Given the description of an element on the screen output the (x, y) to click on. 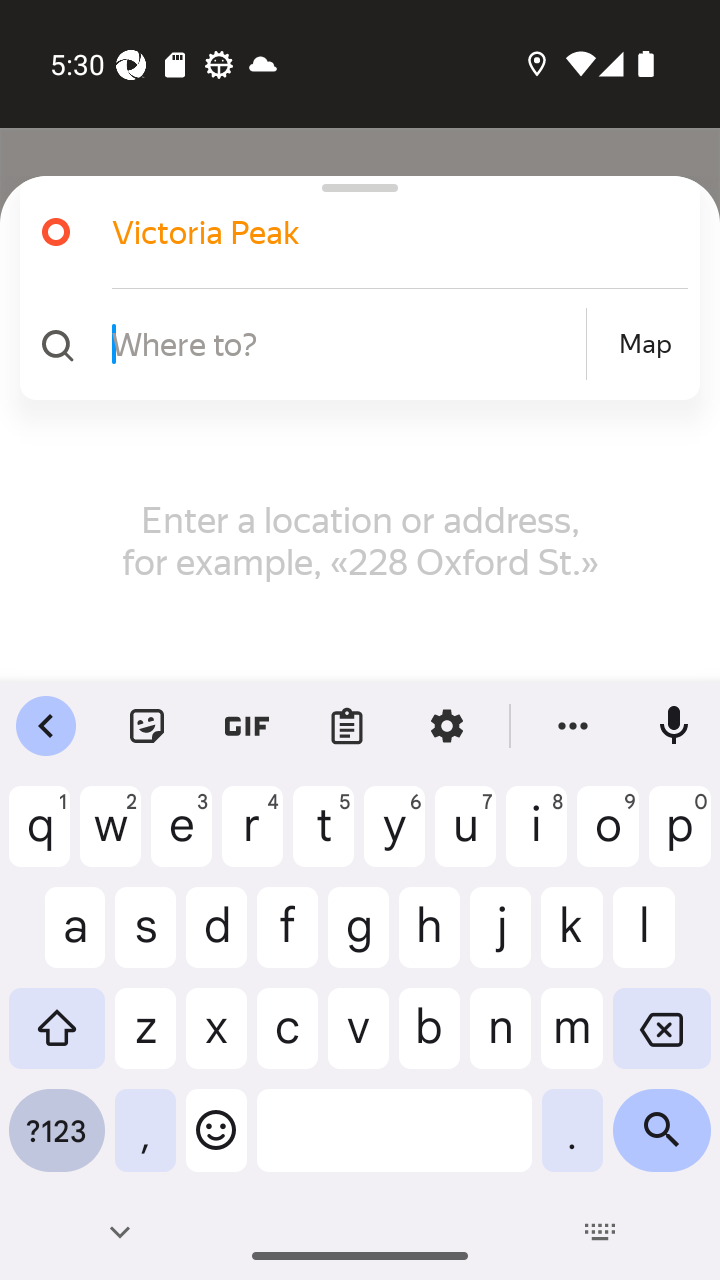
Victoria Peak (352, 232)
Victoria Peak (373, 232)
Where to? Map Map (352, 343)
Map (645, 343)
Where to? (346, 343)
